Given the description of an element on the screen output the (x, y) to click on. 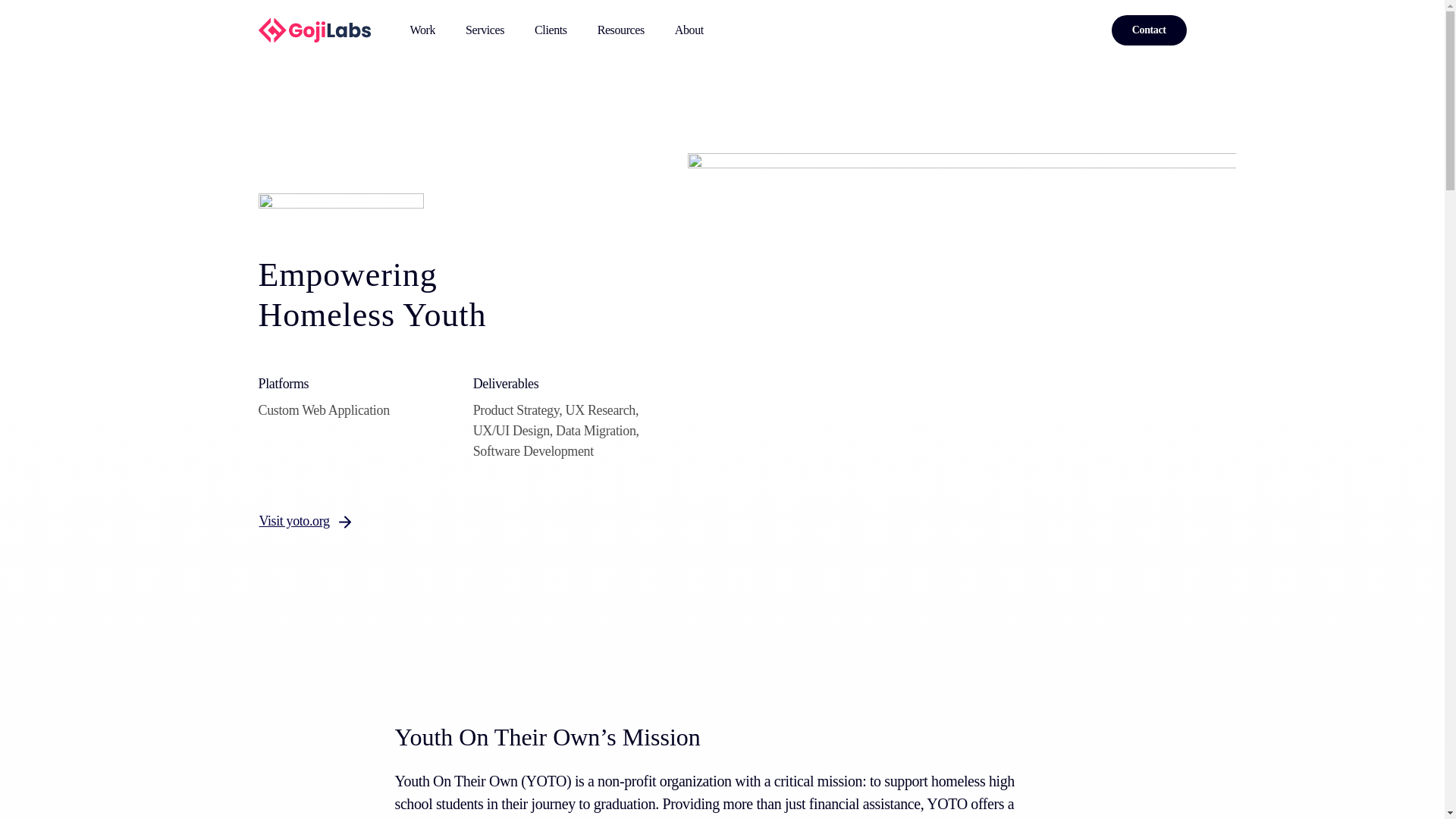
Services (484, 30)
Work (421, 30)
